Given the description of an element on the screen output the (x, y) to click on. 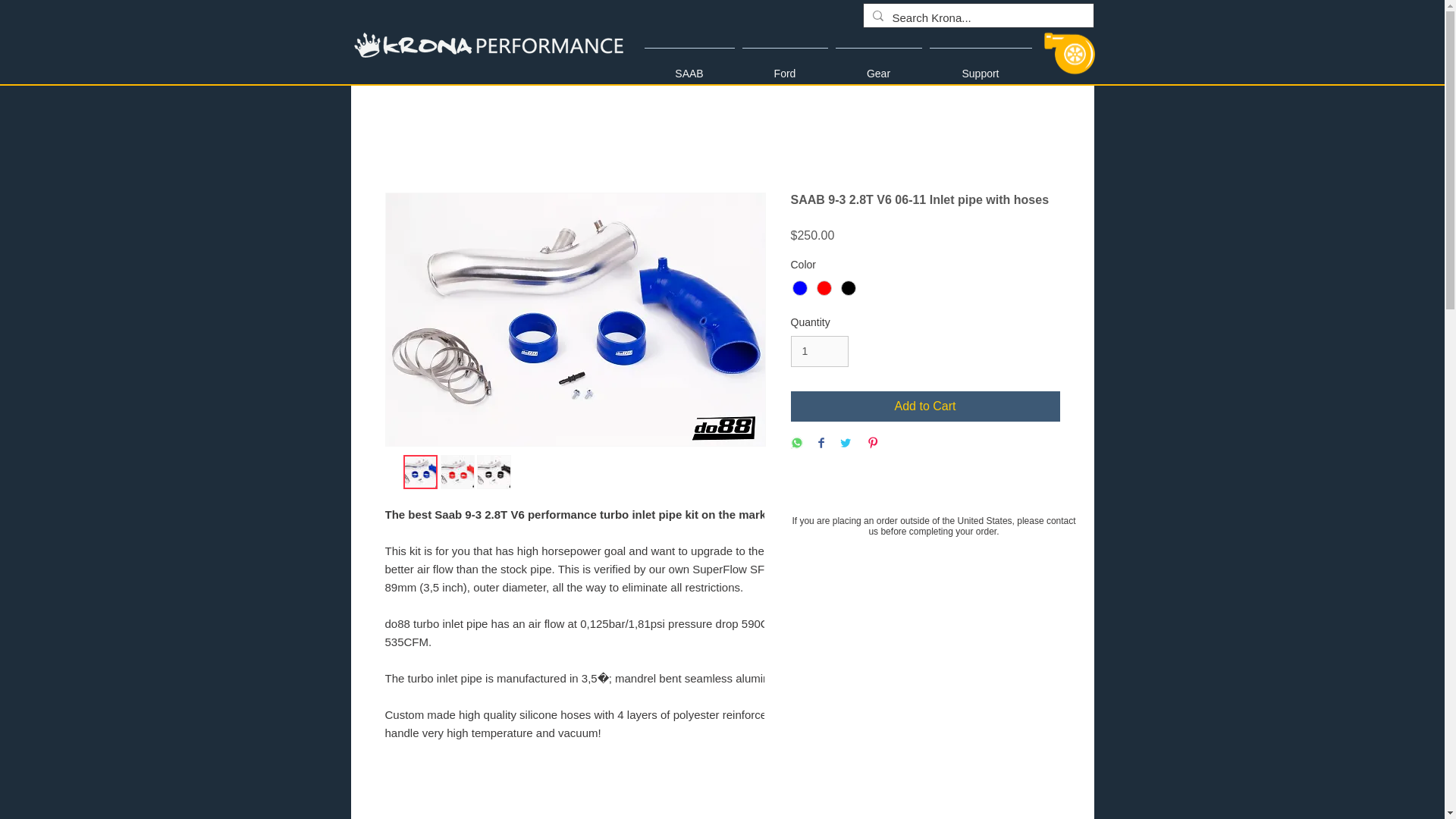
1 (818, 350)
SAAB (689, 66)
Ford (784, 66)
Gear (877, 66)
Add to Cart (924, 406)
